Given the description of an element on the screen output the (x, y) to click on. 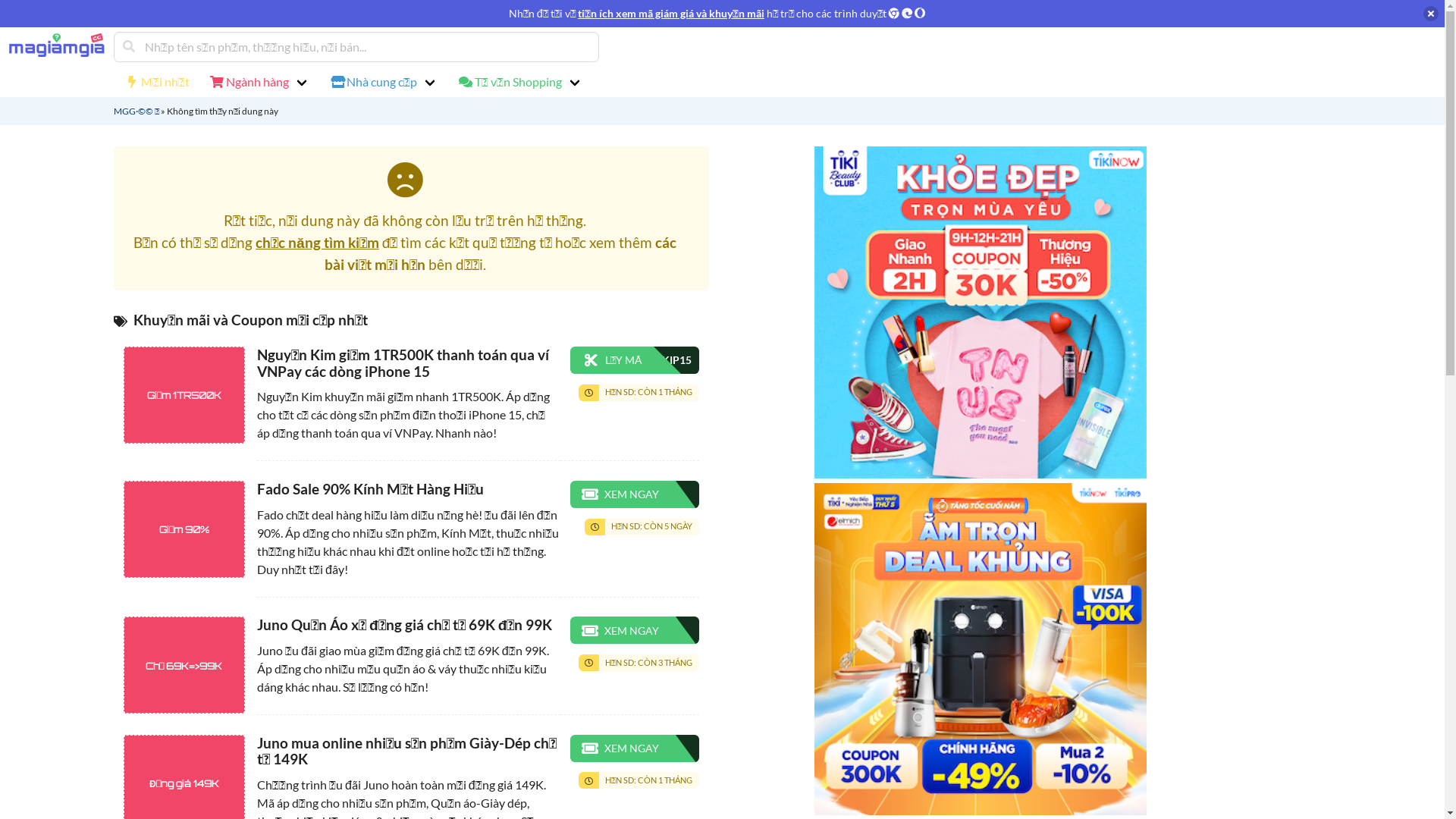
XEM NGAY Element type: text (634, 748)
XEM NGAY Element type: text (634, 494)
XEM NGAY Element type: text (634, 629)
